Given the description of an element on the screen output the (x, y) to click on. 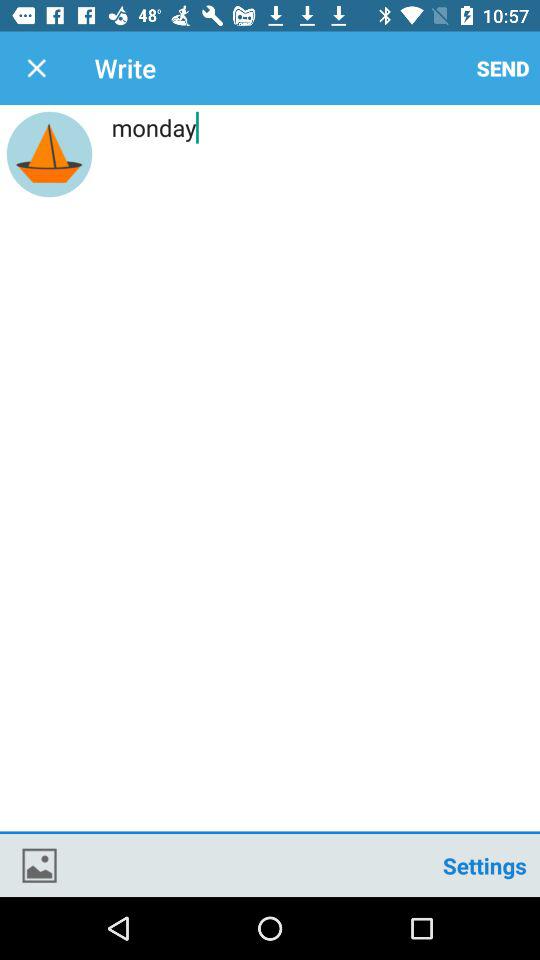
tap the icon above monday icon (503, 67)
